Given the description of an element on the screen output the (x, y) to click on. 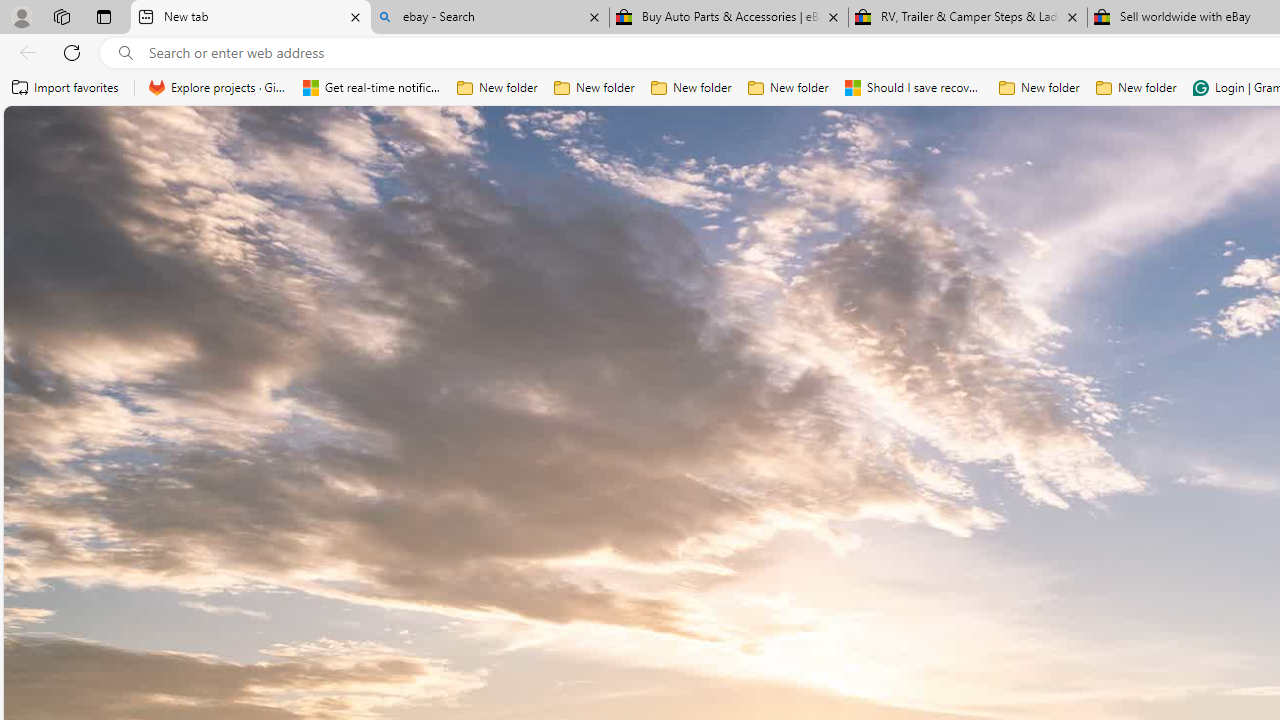
Microsoft start (142, 138)
AutomationID: tab-14 (742, 576)
AutomationID: tab-21 (797, 576)
View comments 8 Comment (1234, 574)
